Given the description of an element on the screen output the (x, y) to click on. 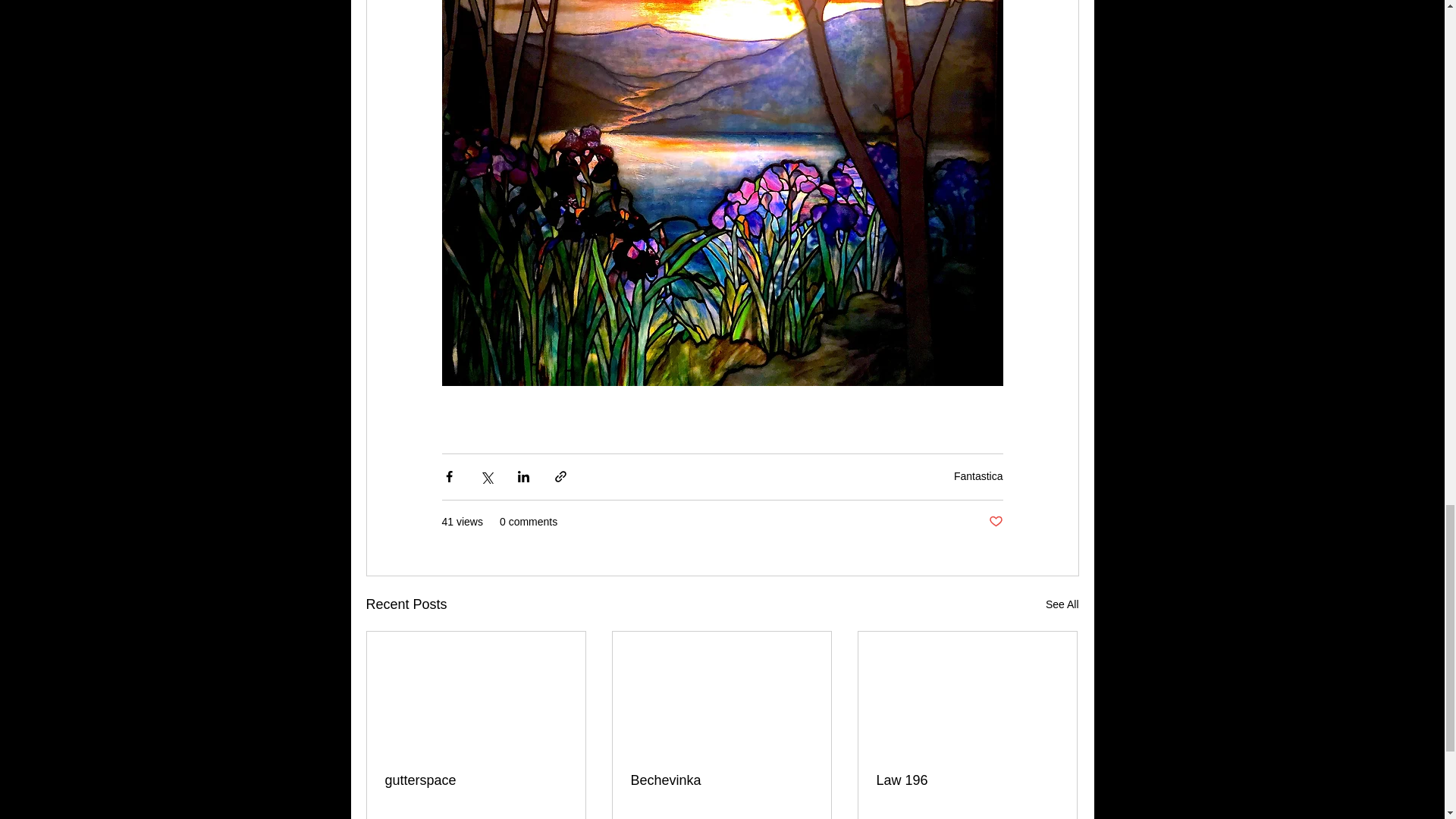
Bechevinka (721, 780)
gutterspace (476, 780)
Post not marked as liked (995, 521)
Fantastica (978, 476)
See All (1061, 604)
